Given the description of an element on the screen output the (x, y) to click on. 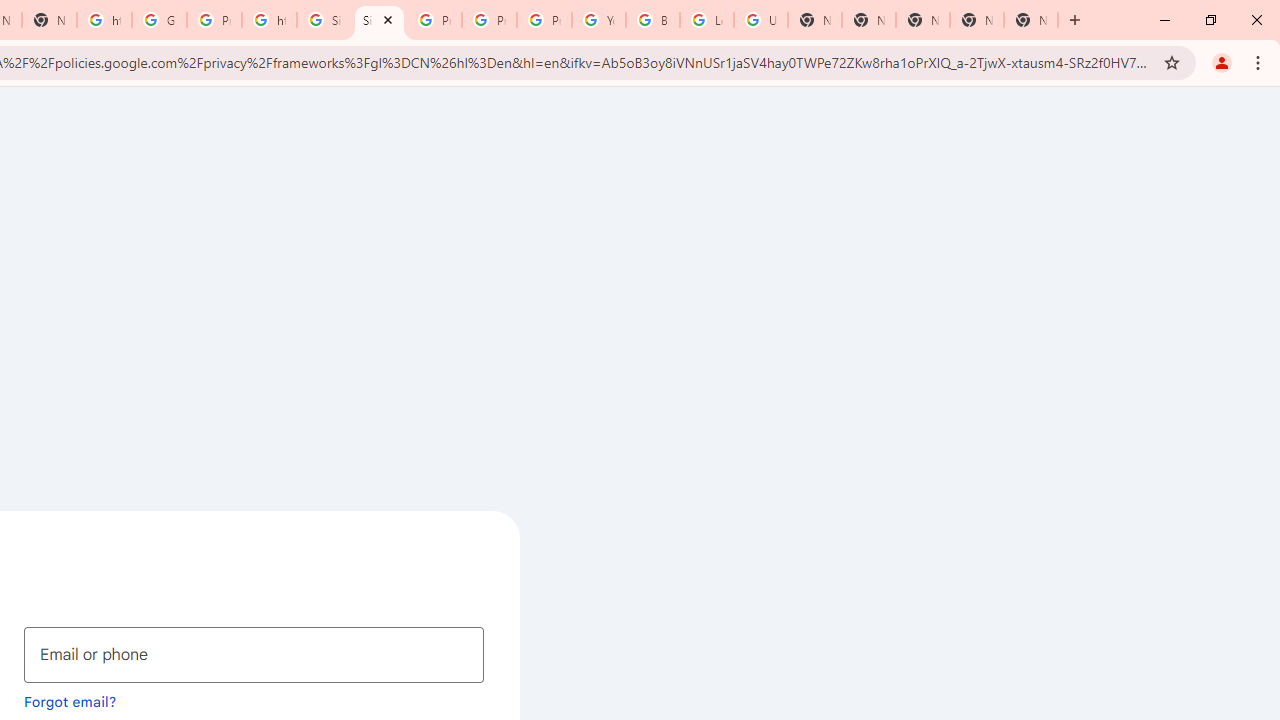
https://scholar.google.com/ (268, 20)
Privacy Help Center - Policies Help (434, 20)
New Tab (868, 20)
https://scholar.google.com/ (103, 20)
Sign in - Google Accounts (324, 20)
Privacy Help Center - Policies Help (489, 20)
